Given the description of an element on the screen output the (x, y) to click on. 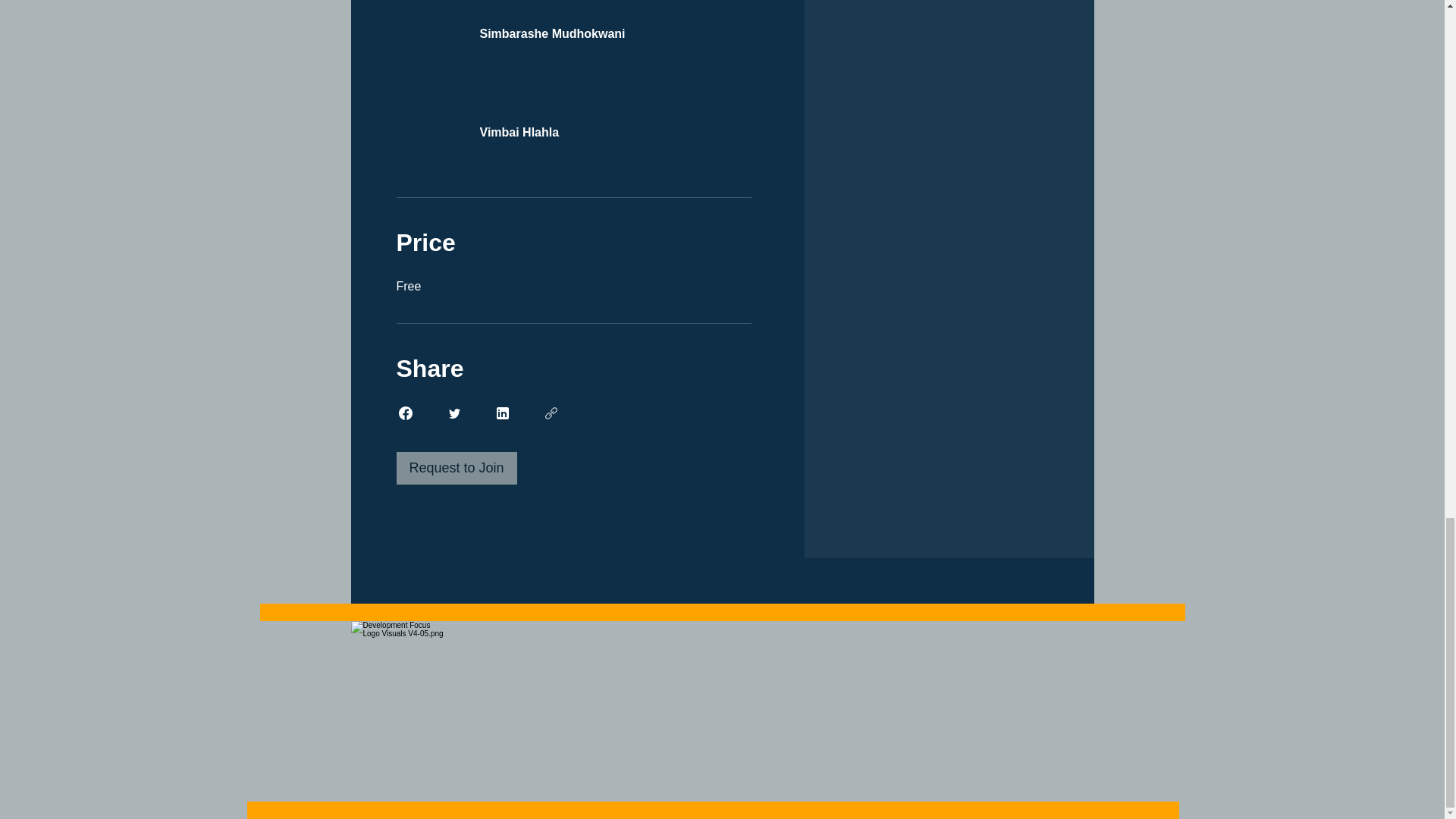
Vimbai Hlahla (573, 123)
Request to Join (456, 468)
Simbarashe Mudhokwani (573, 25)
